Given the description of an element on the screen output the (x, y) to click on. 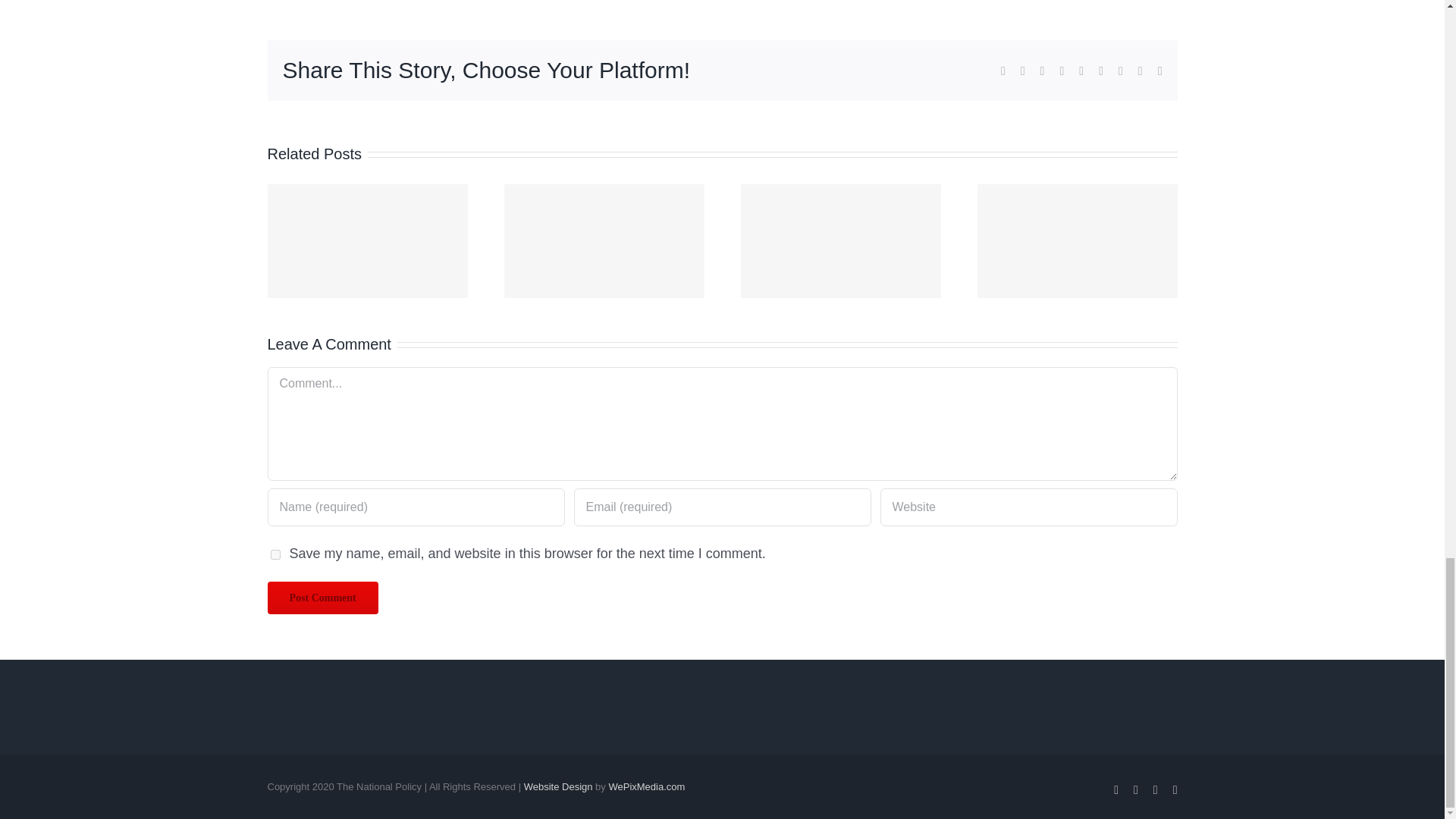
facebook (1003, 70)
twitter (1022, 70)
tumblr (1101, 70)
reddit (1061, 70)
linkedin (1043, 70)
whatsapp (1080, 70)
pinterest (1120, 70)
Post Comment (321, 597)
Email (1159, 70)
vk (1140, 70)
yes (274, 554)
